Given the description of an element on the screen output the (x, y) to click on. 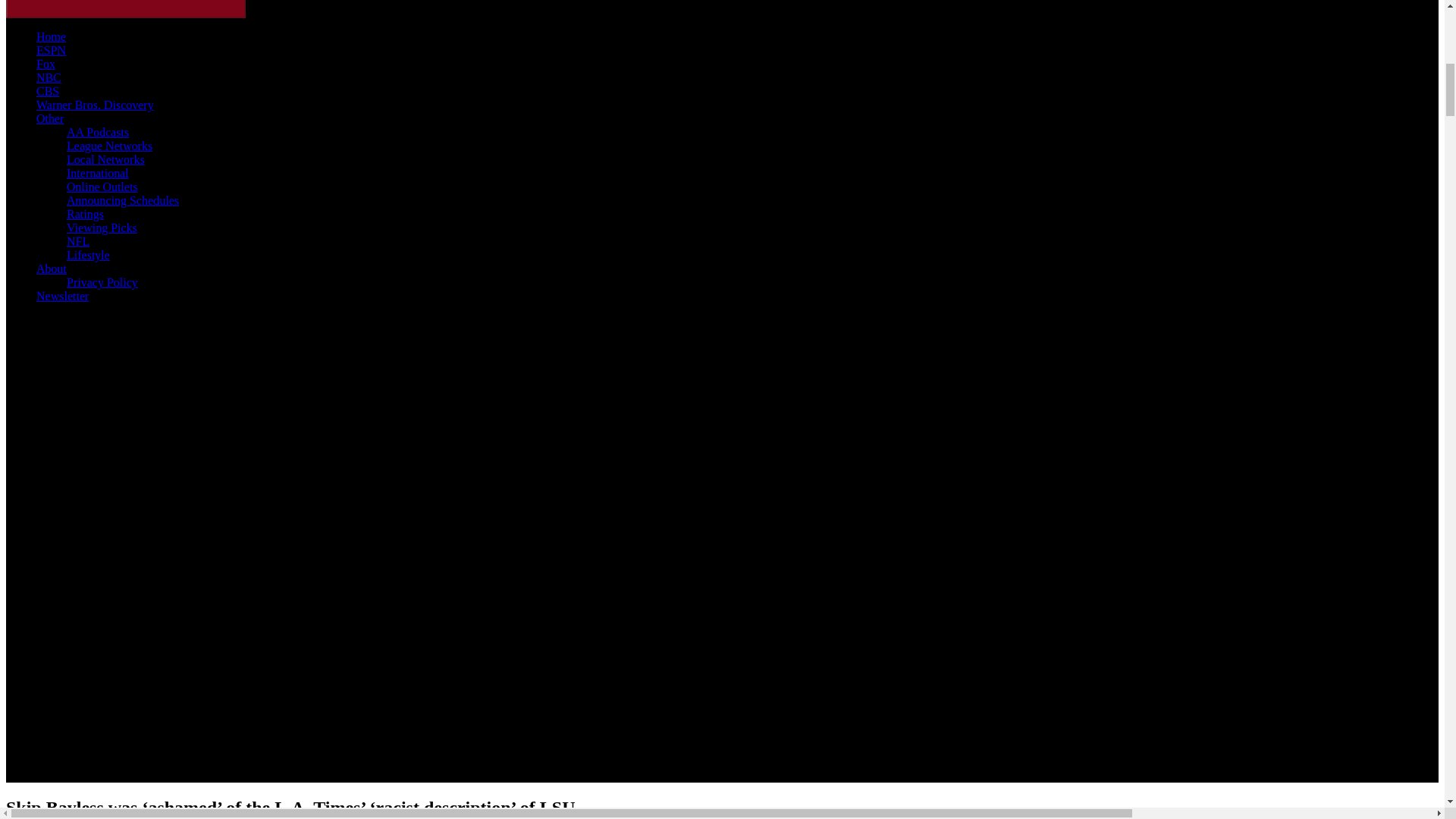
League Networks (109, 145)
International (97, 173)
Viewing Picks (101, 227)
Local Networks (105, 159)
Link to Instagram (149, 605)
Ratings (84, 214)
ESPN (50, 50)
NFL (77, 241)
Announcing Schedules (125, 9)
